Given the description of an element on the screen output the (x, y) to click on. 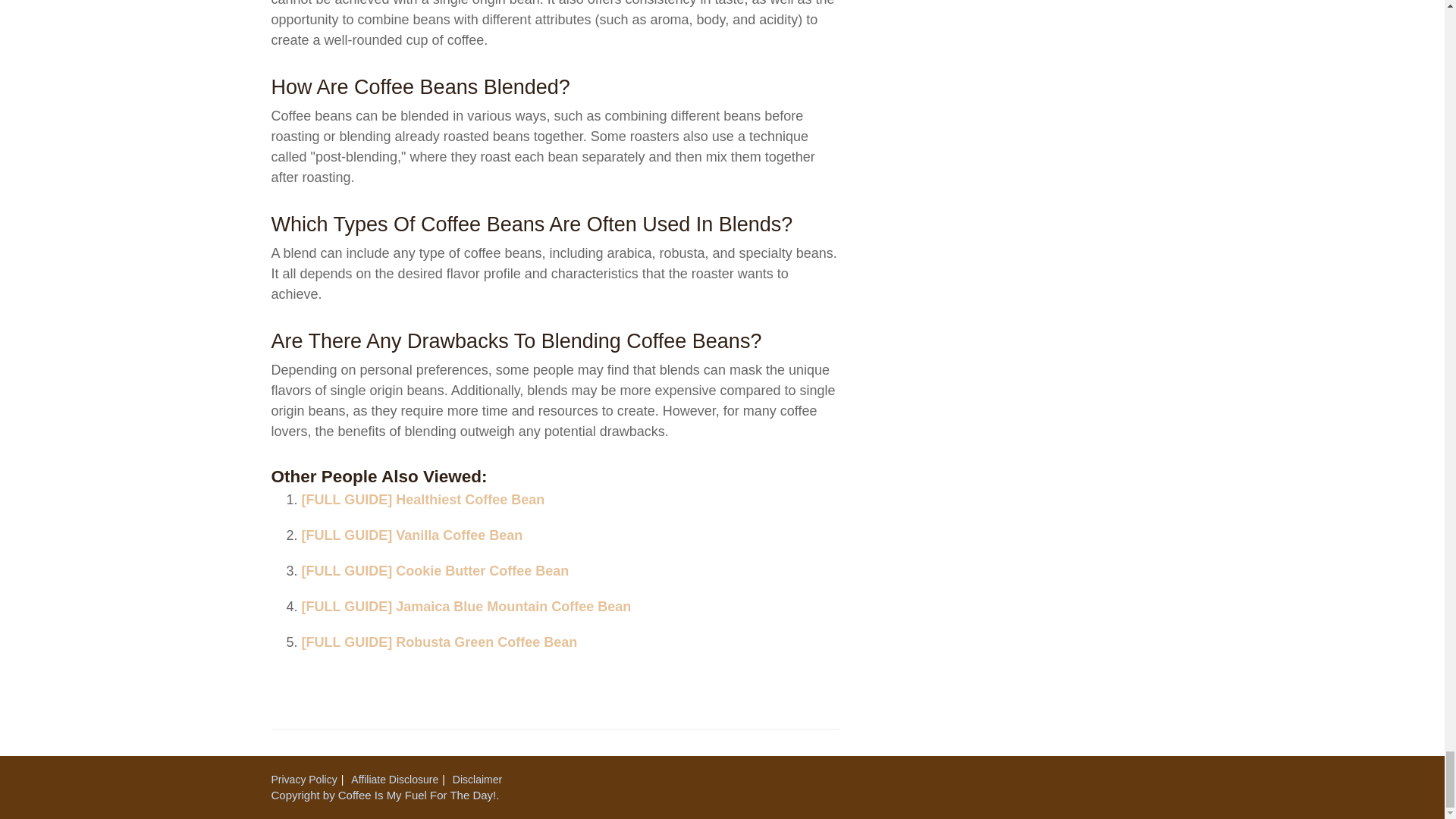
Privacy Policy (303, 779)
Affiliate Disclosure (394, 779)
Disclaimer (477, 779)
